Given the description of an element on the screen output the (x, y) to click on. 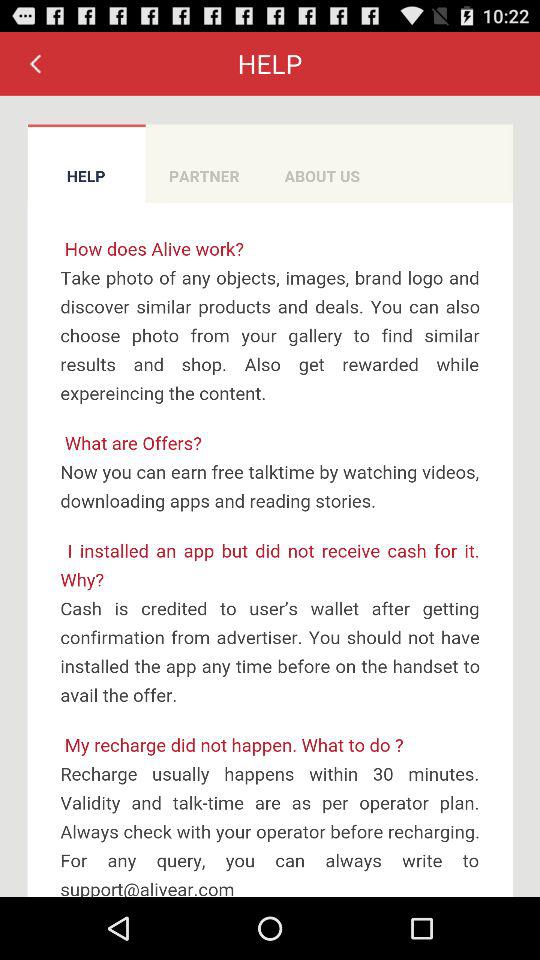
go back (35, 63)
